Given the description of an element on the screen output the (x, y) to click on. 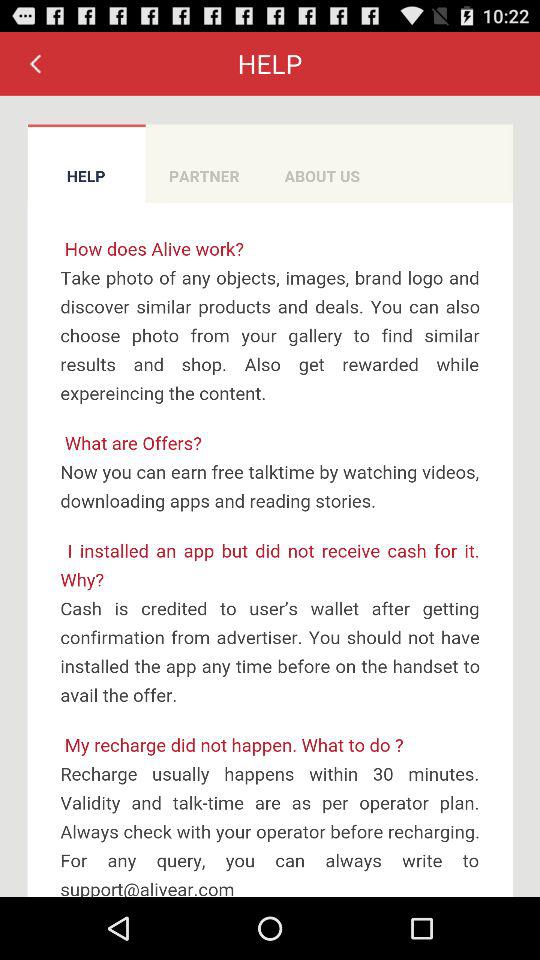
go back (35, 63)
